Given the description of an element on the screen output the (x, y) to click on. 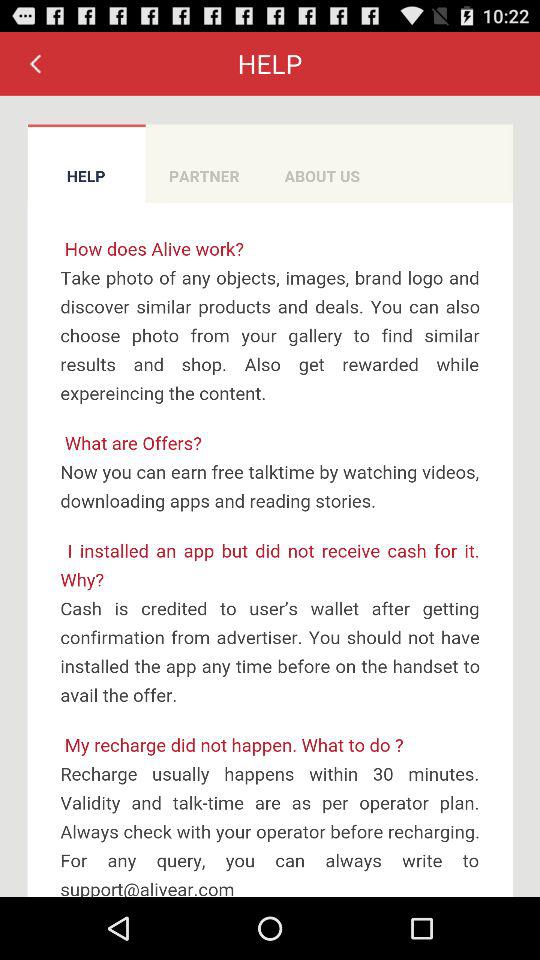
go back (35, 63)
